Given the description of an element on the screen output the (x, y) to click on. 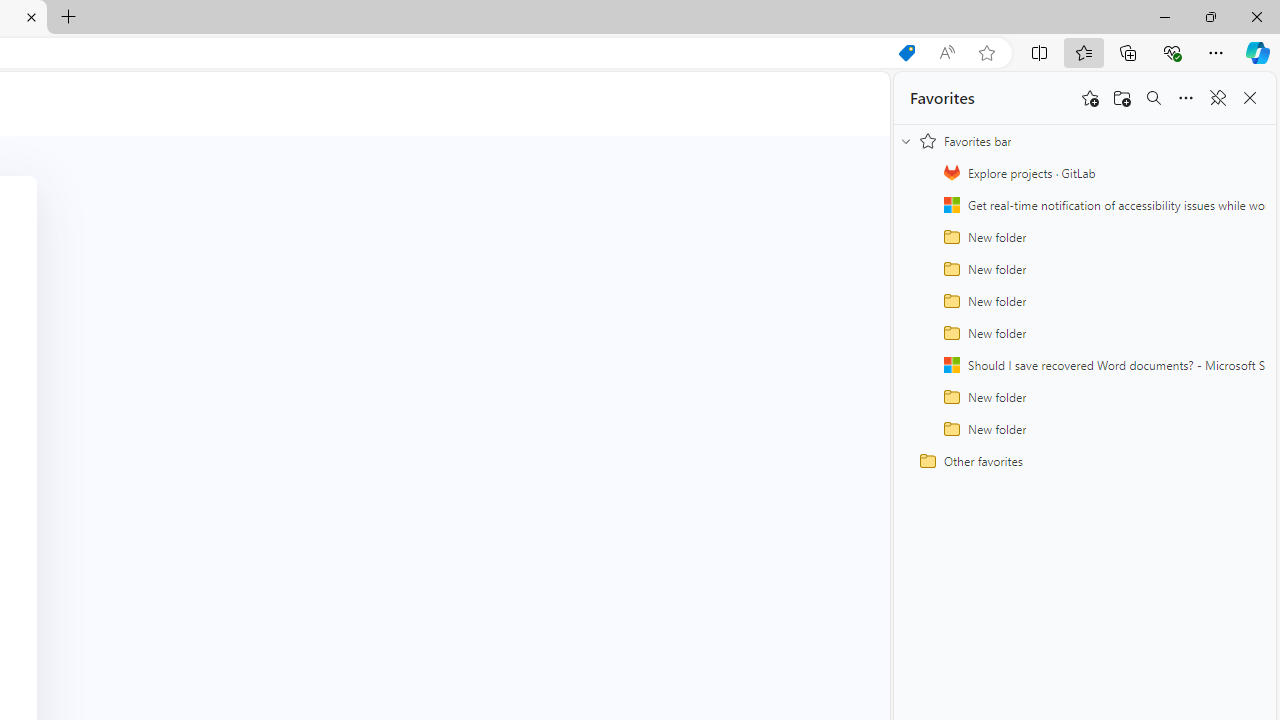
Unpin favorites (1217, 98)
Shopping in Microsoft Edge (906, 53)
